Given the description of an element on the screen output the (x, y) to click on. 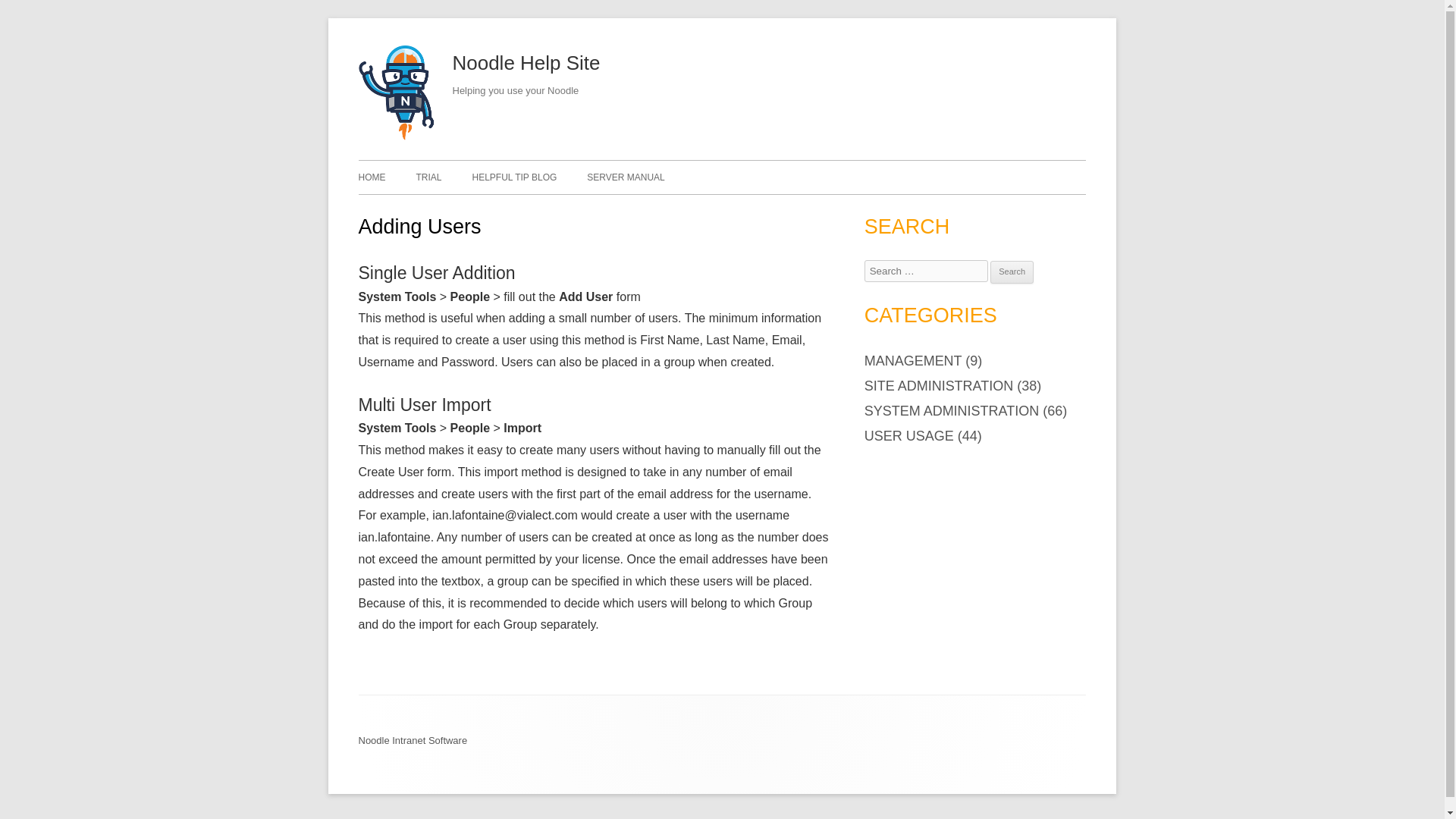
Search (1011, 272)
Search (1011, 272)
Noodle Help Site (525, 63)
HELPFUL TIP BLOG (513, 177)
SERVER MANUAL (624, 177)
Search (1011, 272)
SITE ADMINISTRATION (938, 385)
SYSTEM ADMINISTRATION (951, 410)
Noodle Help Site (395, 136)
Noodle Intranet Software (412, 740)
Noodle Help Site (525, 63)
MANAGEMENT (913, 360)
USER USAGE (908, 435)
